Given the description of an element on the screen output the (x, y) to click on. 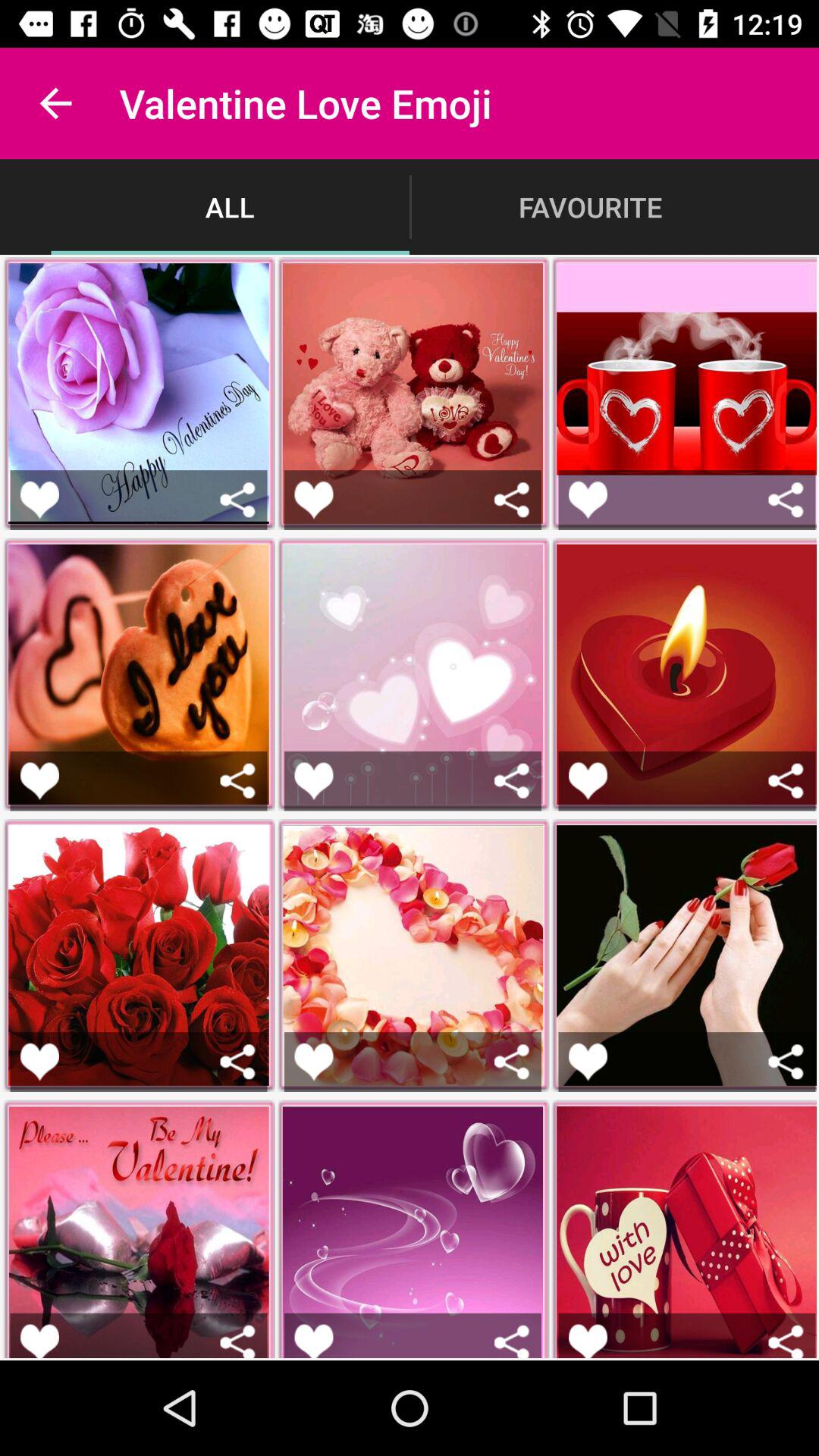
favorite (39, 1061)
